Given the description of an element on the screen output the (x, y) to click on. 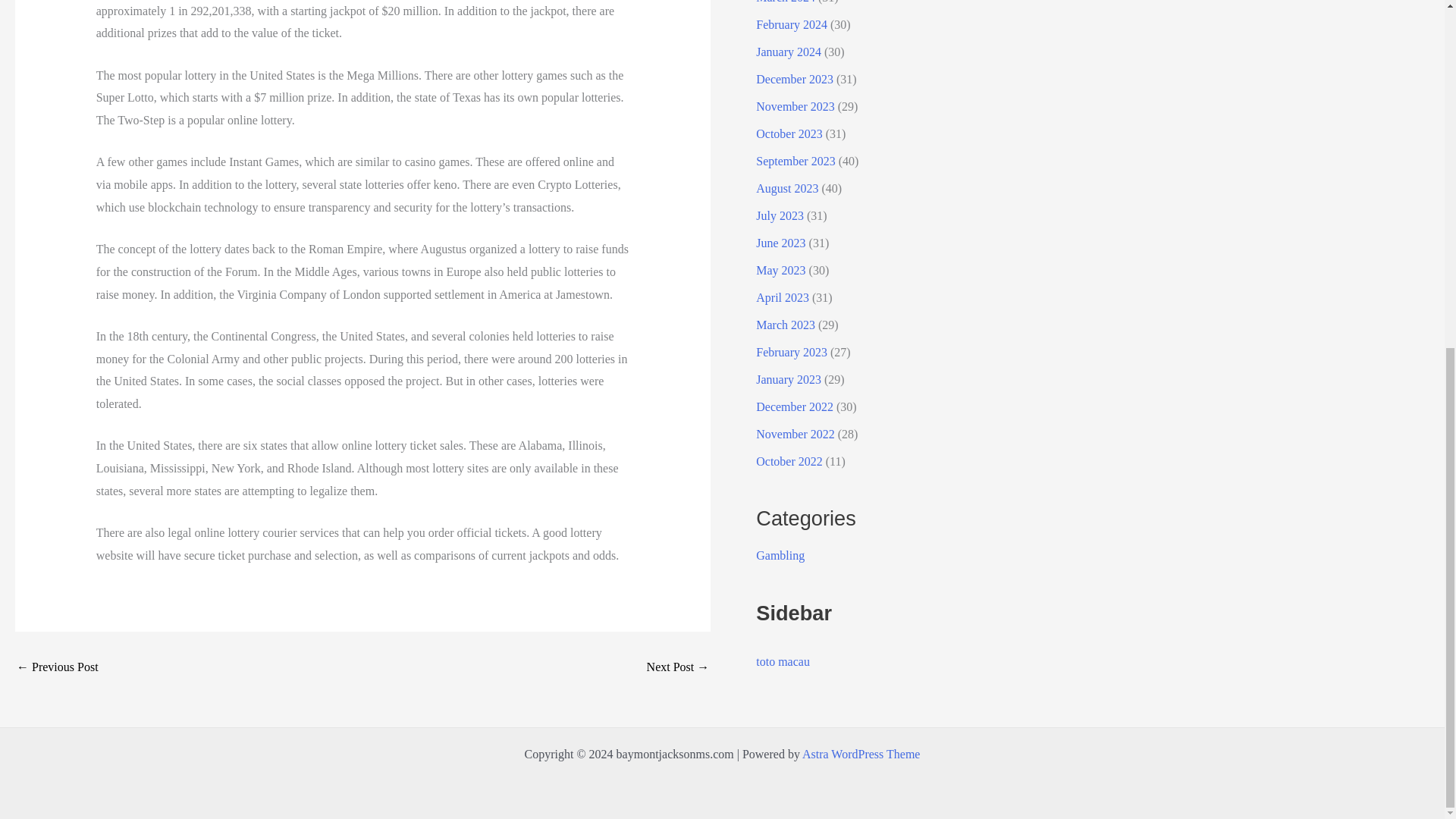
April 2023 (782, 297)
How to Play Online Poker (678, 666)
June 2023 (780, 242)
October 2022 (788, 461)
February 2023 (791, 351)
May 2023 (780, 269)
Astra WordPress Theme (861, 753)
November 2023 (794, 106)
January 2023 (788, 379)
Gambling (780, 554)
